Given the description of an element on the screen output the (x, y) to click on. 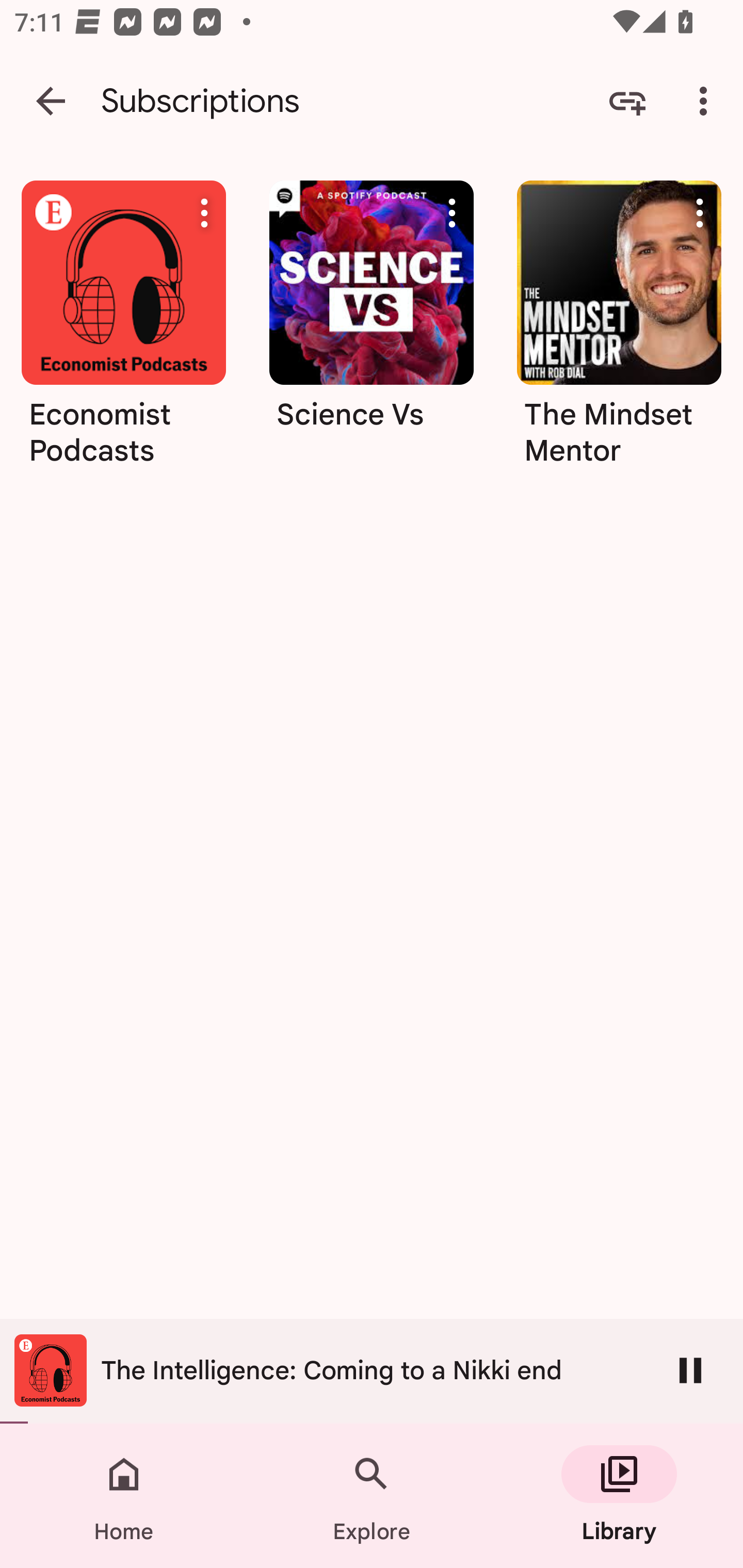
Navigate up (50, 101)
Add by RSS feed (626, 101)
More options (706, 101)
Economist Podcasts More actions Economist Podcasts (123, 329)
Science Vs More actions Science Vs (371, 329)
The Mindset Mentor More actions The Mindset Mentor (619, 329)
More actions (203, 213)
More actions (452, 213)
More actions (699, 213)
Pause (690, 1370)
Home (123, 1495)
Explore (371, 1495)
